Given the description of an element on the screen output the (x, y) to click on. 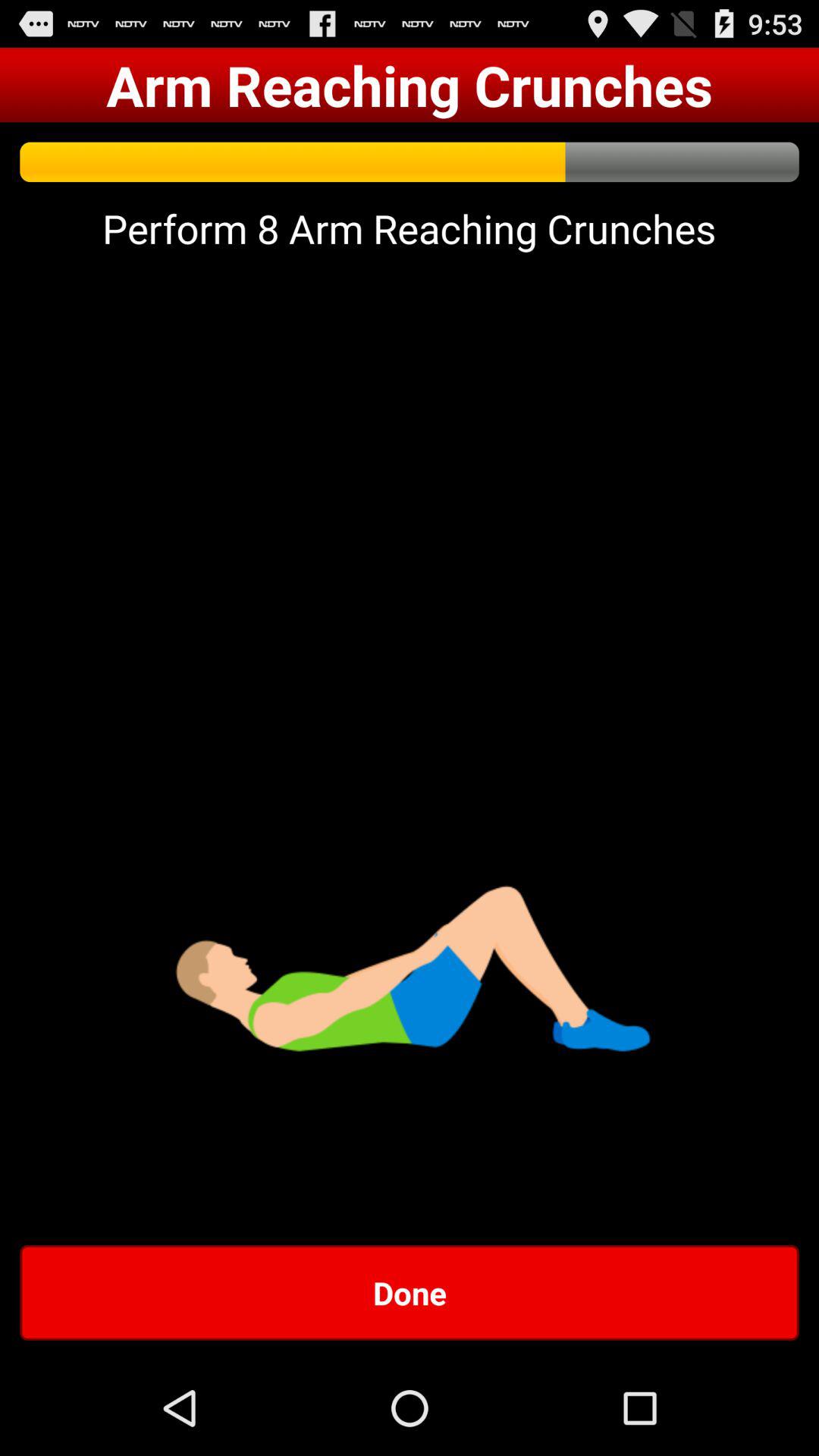
jump until done item (409, 1292)
